Given the description of an element on the screen output the (x, y) to click on. 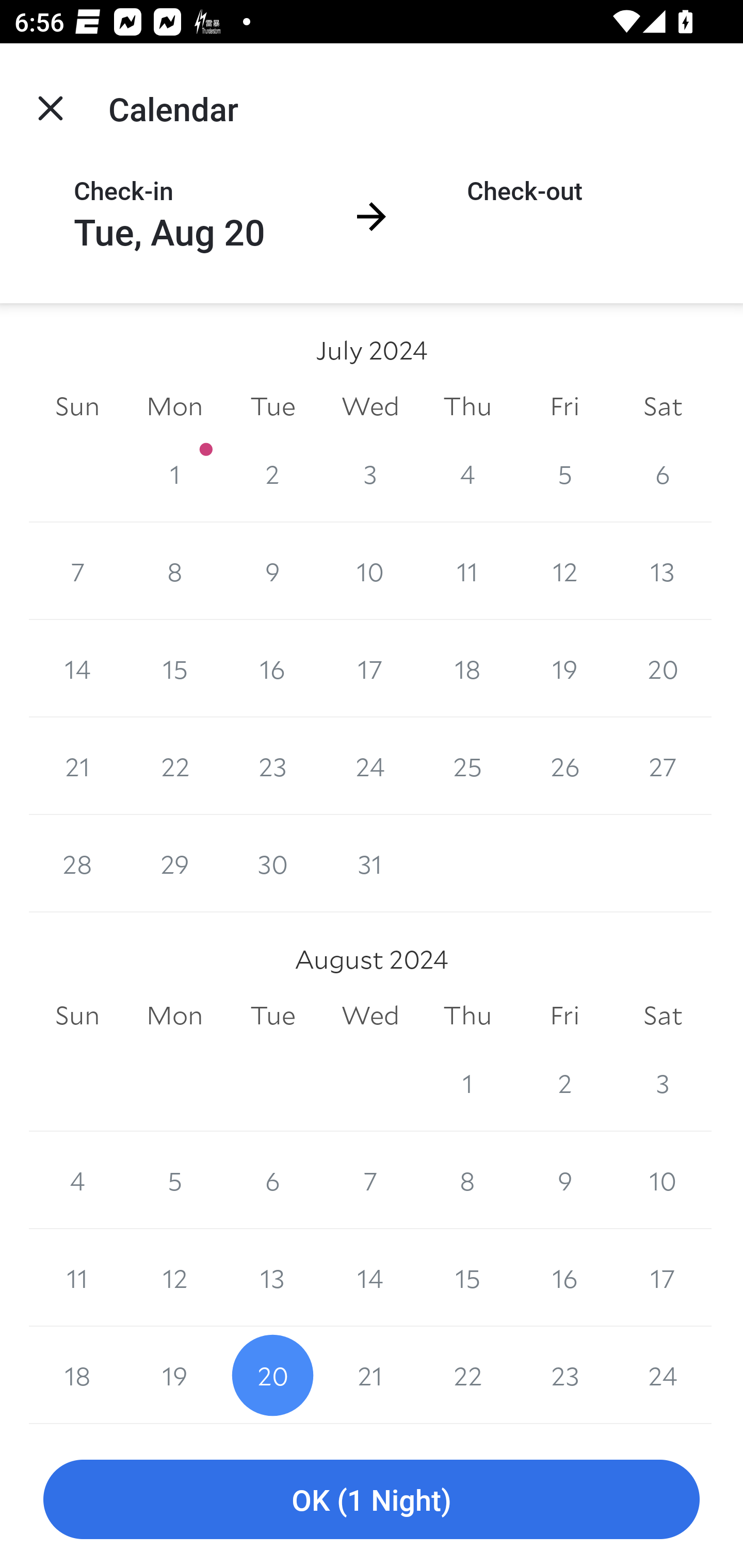
Sun (77, 405)
Mon (174, 405)
Tue (272, 405)
Wed (370, 405)
Thu (467, 405)
Fri (564, 405)
Sat (662, 405)
1 1 July 2024 (174, 473)
2 2 July 2024 (272, 473)
3 3 July 2024 (370, 473)
4 4 July 2024 (467, 473)
5 5 July 2024 (564, 473)
6 6 July 2024 (662, 473)
7 7 July 2024 (77, 570)
8 8 July 2024 (174, 570)
9 9 July 2024 (272, 570)
10 10 July 2024 (370, 570)
11 11 July 2024 (467, 570)
12 12 July 2024 (564, 570)
13 13 July 2024 (662, 570)
14 14 July 2024 (77, 668)
15 15 July 2024 (174, 668)
16 16 July 2024 (272, 668)
17 17 July 2024 (370, 668)
18 18 July 2024 (467, 668)
19 19 July 2024 (564, 668)
20 20 July 2024 (662, 668)
21 21 July 2024 (77, 766)
22 22 July 2024 (174, 766)
23 23 July 2024 (272, 766)
24 24 July 2024 (370, 766)
25 25 July 2024 (467, 766)
26 26 July 2024 (564, 766)
27 27 July 2024 (662, 766)
28 28 July 2024 (77, 863)
29 29 July 2024 (174, 863)
30 30 July 2024 (272, 863)
31 31 July 2024 (370, 863)
Sun (77, 1015)
Mon (174, 1015)
Tue (272, 1015)
Wed (370, 1015)
Thu (467, 1015)
Fri (564, 1015)
Sat (662, 1015)
1 1 August 2024 (467, 1083)
2 2 August 2024 (564, 1083)
3 3 August 2024 (662, 1083)
4 4 August 2024 (77, 1180)
